Given the description of an element on the screen output the (x, y) to click on. 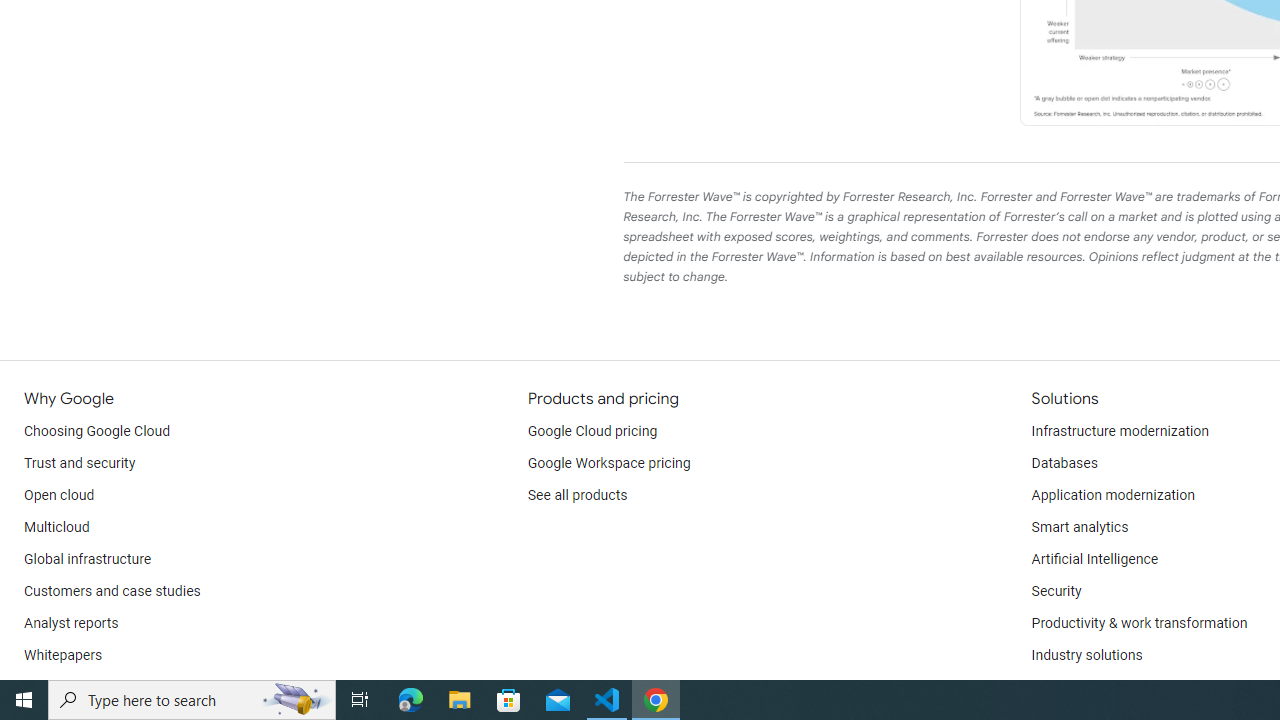
Whitepapers (63, 655)
Customers and case studies (112, 591)
Google Workspace pricing (609, 463)
Choosing Google Cloud (97, 431)
Blog (38, 687)
Analyst reports (71, 623)
Security (1055, 591)
Infrastructure modernization (1119, 431)
Databases (1064, 463)
Productivity & work transformation (1139, 623)
DevOps solutions (1085, 687)
Google Cloud pricing (592, 431)
Smart analytics (1079, 527)
Application modernization (1112, 495)
